Given the description of an element on the screen output the (x, y) to click on. 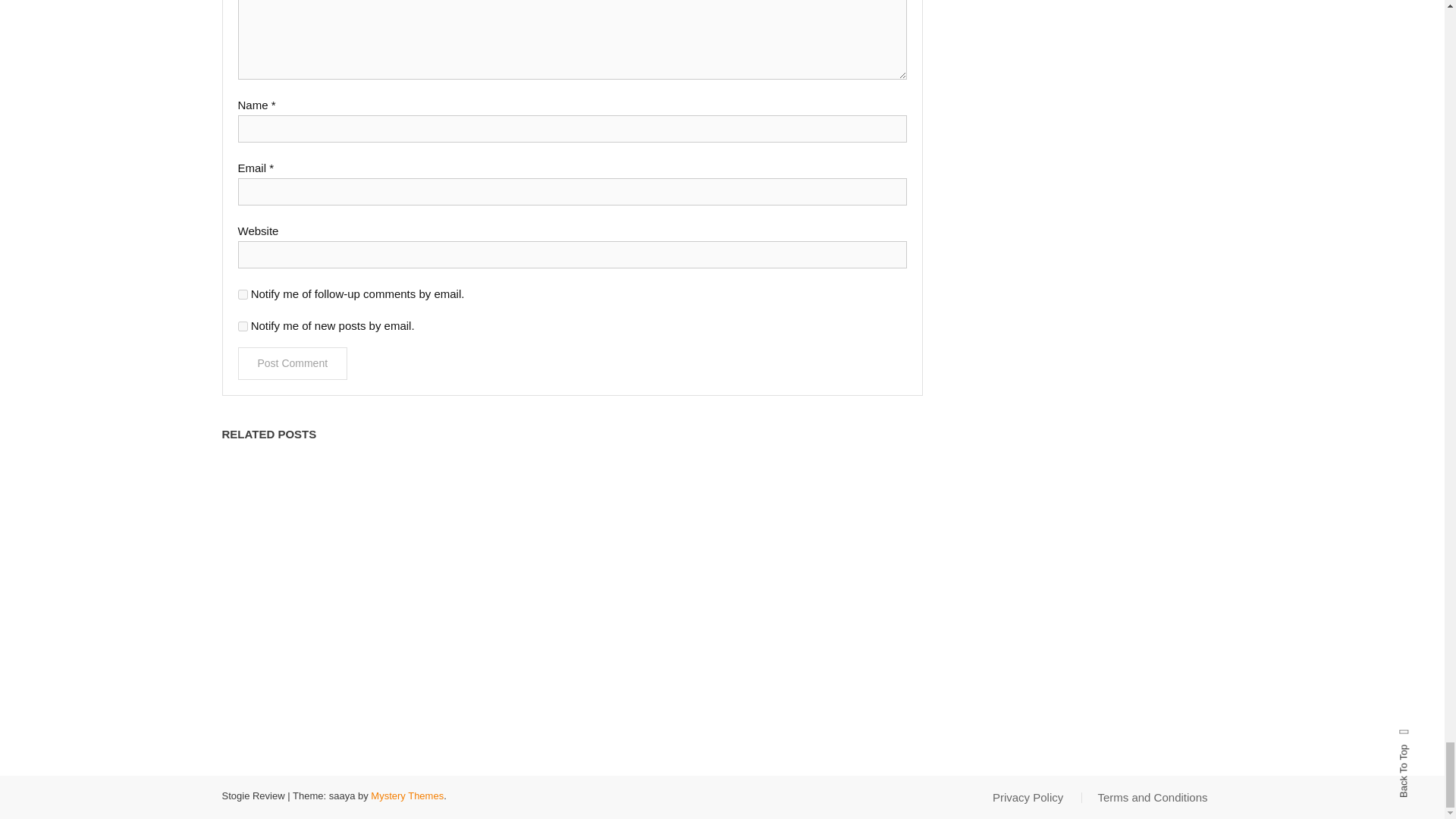
subscribe (242, 326)
subscribe (242, 294)
Post Comment (292, 363)
